Given the description of an element on the screen output the (x, y) to click on. 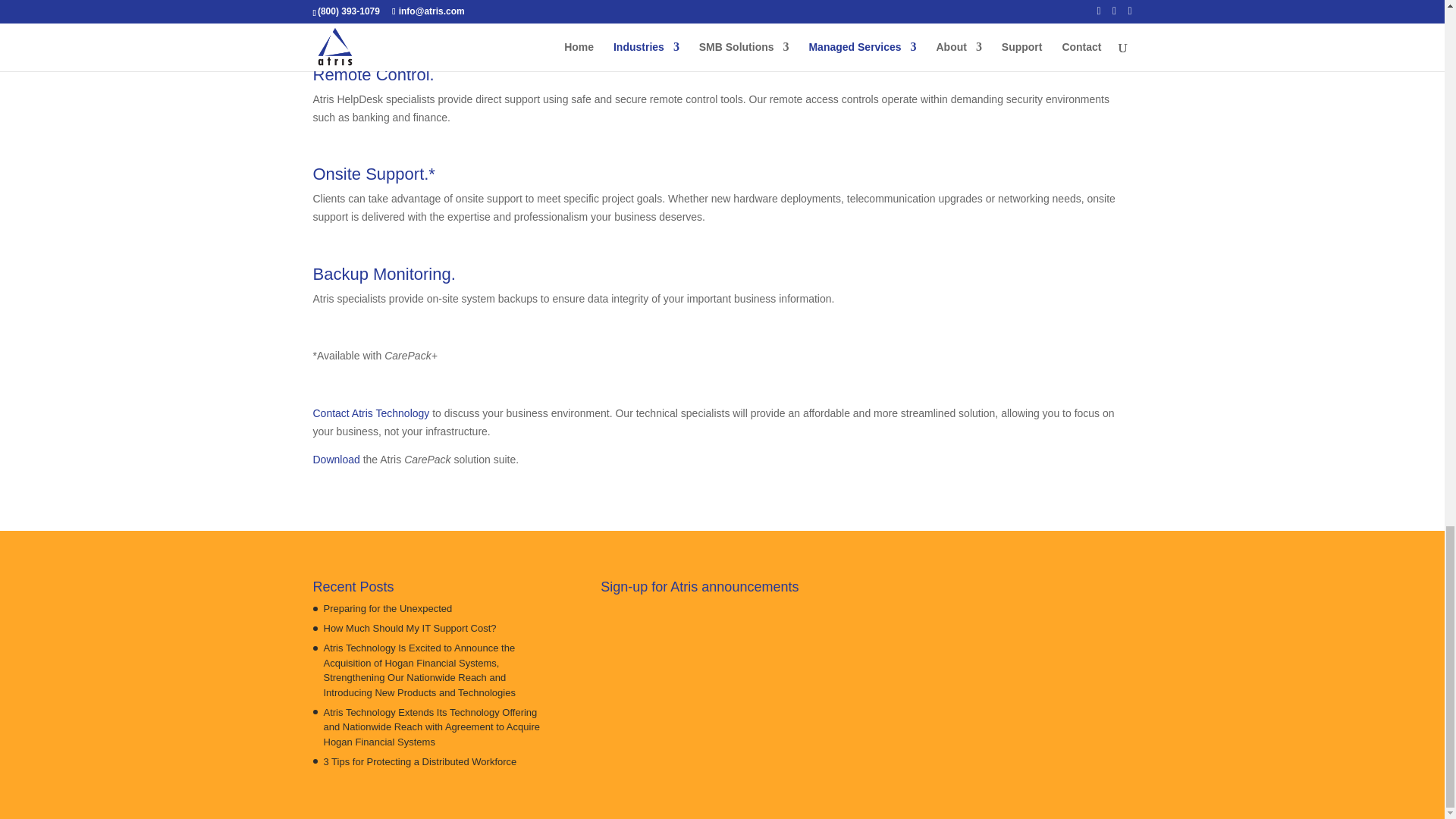
Contact (371, 413)
